Given the description of an element on the screen output the (x, y) to click on. 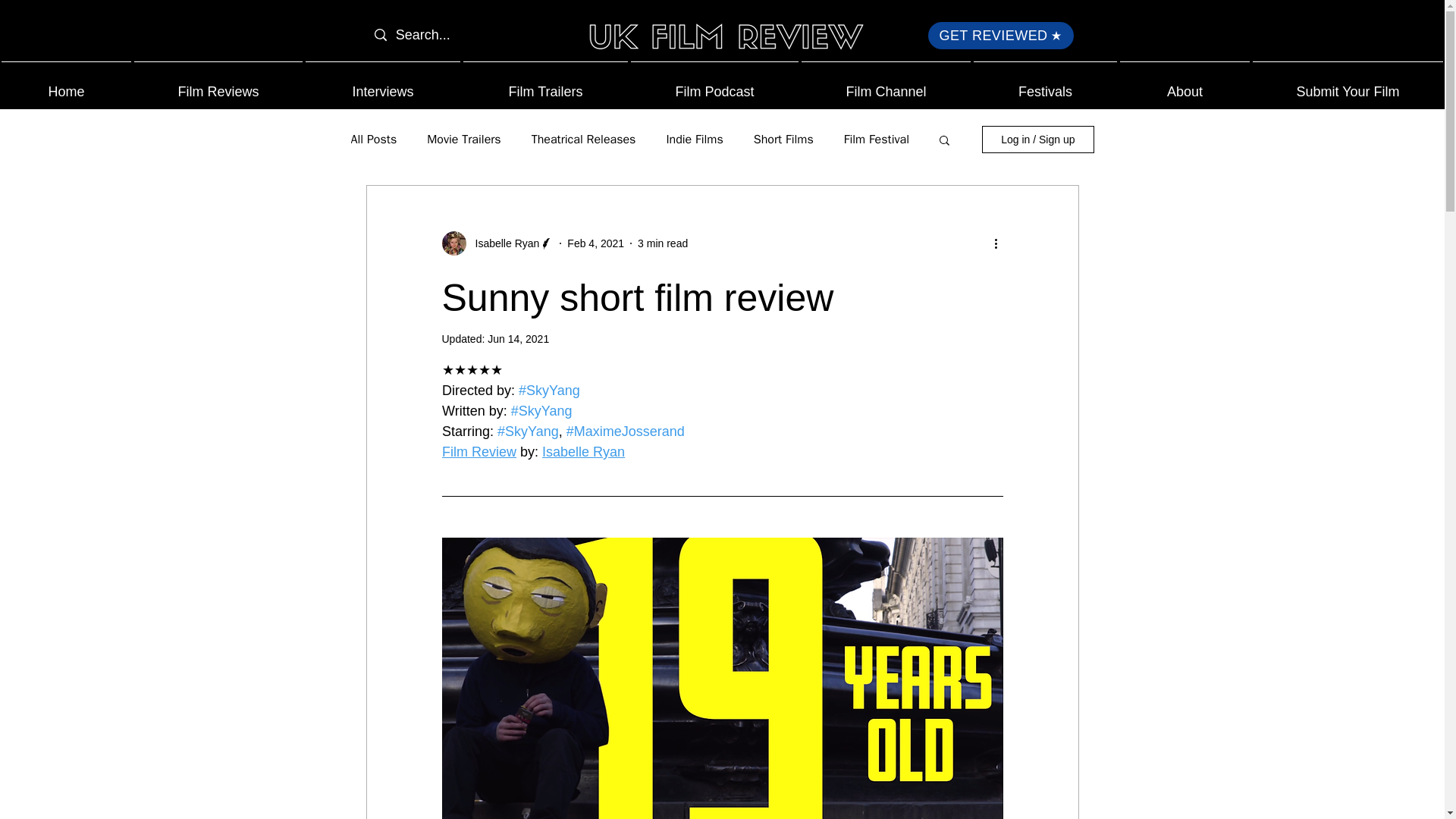
Interviews (382, 84)
UK Film Review Logo (723, 40)
Film Trailers (544, 84)
Festivals (1045, 84)
Jun 14, 2021 (517, 338)
Feb 4, 2021 (595, 242)
GET REVIEWED (1001, 35)
Film Reviews (218, 84)
3 min read (662, 242)
Home (66, 84)
